Given the description of an element on the screen output the (x, y) to click on. 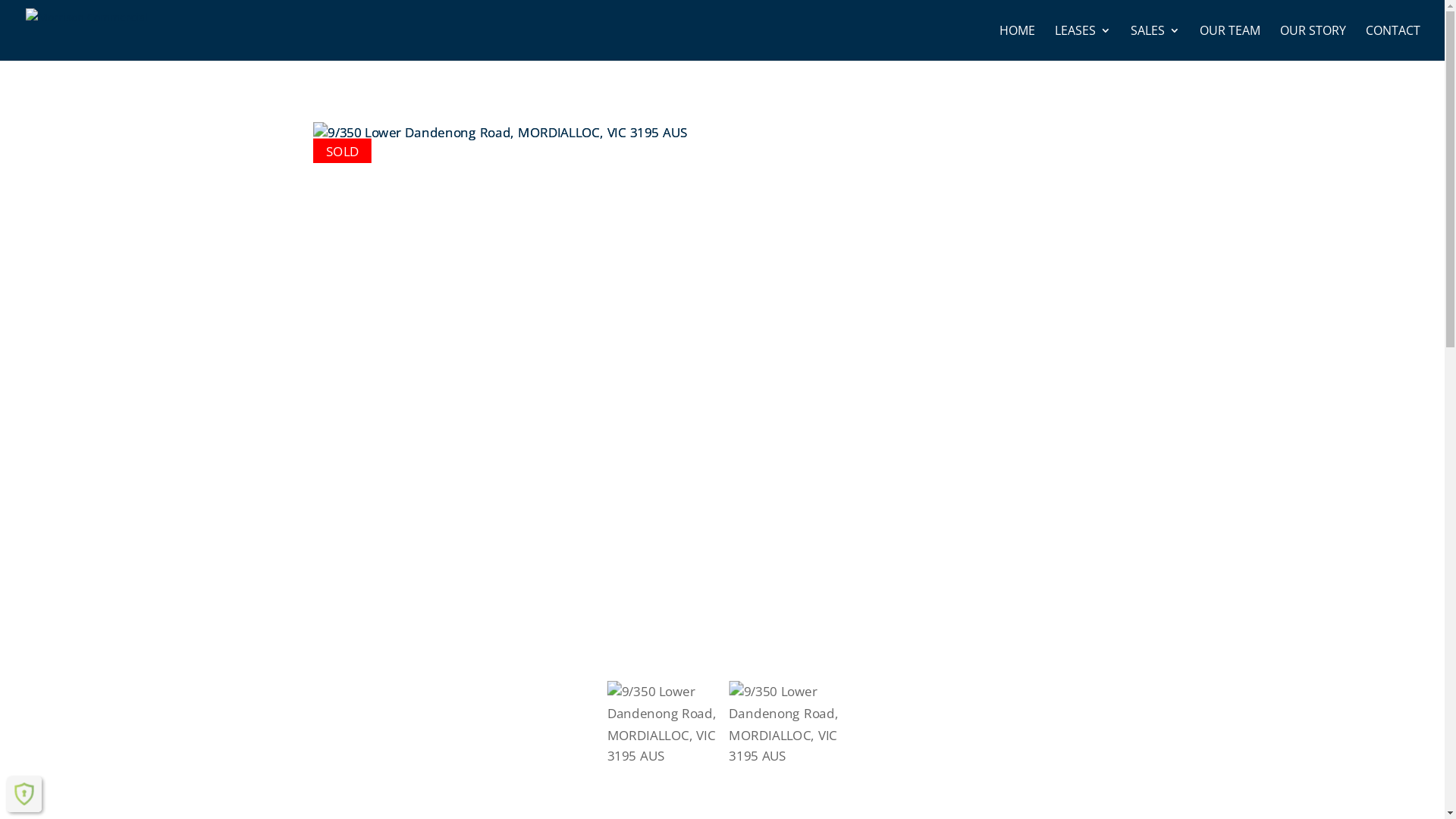
HOME Element type: text (1017, 42)
LEASES Element type: text (1082, 42)
My IT Security Shield Element type: hover (24, 793)
CONTACT Element type: text (1392, 42)
SALES Element type: text (1154, 42)
OUR TEAM Element type: text (1229, 42)
OUR STORY Element type: text (1313, 42)
